Given the description of an element on the screen output the (x, y) to click on. 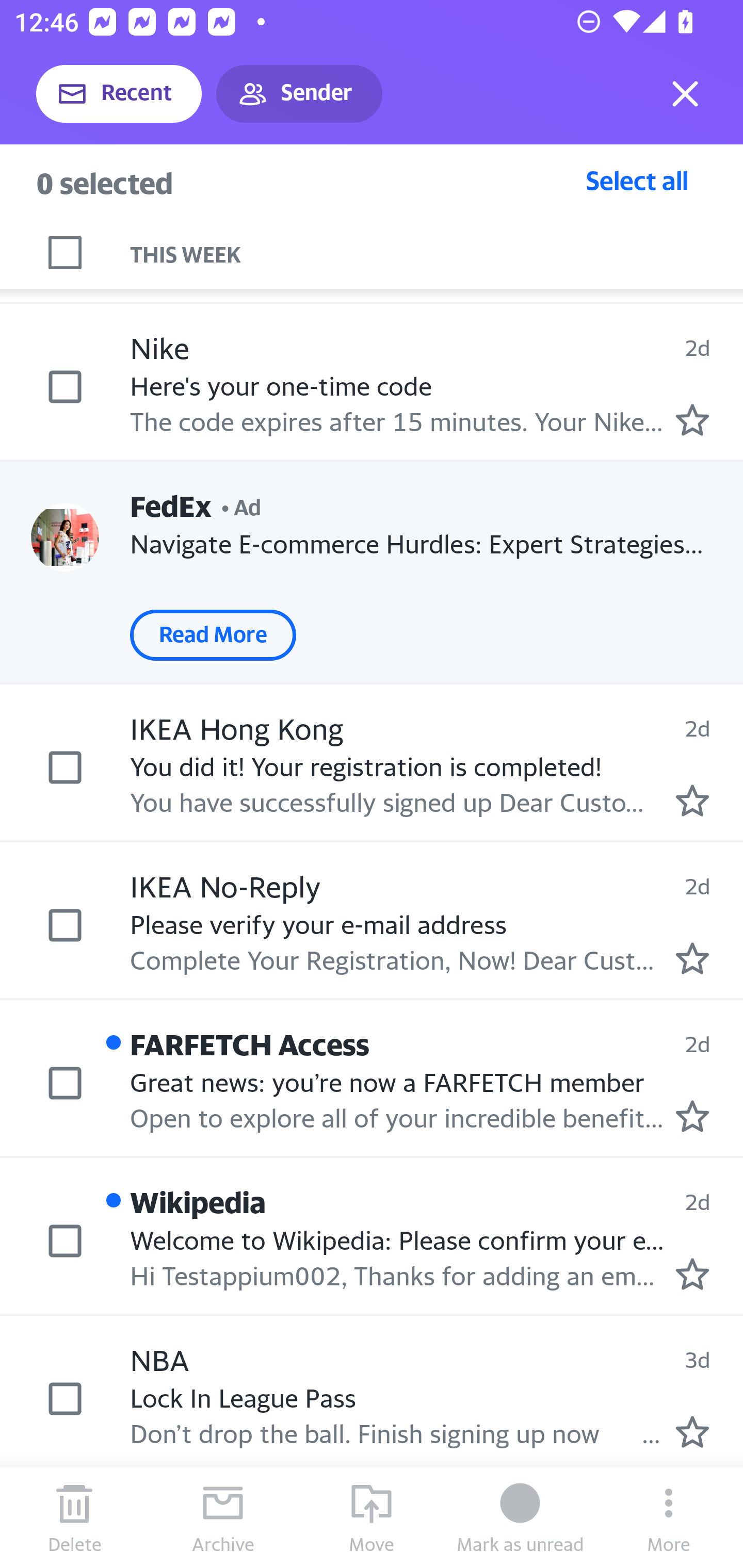
Sender (299, 93)
Exit selection mode (684, 93)
Select all (637, 180)
Mark as starred. (692, 419)
Mark as starred. (692, 800)
Mark as starred. (692, 958)
Mark as starred. (692, 1115)
Mark as starred. (692, 1273)
Mark as starred. (692, 1432)
Delete (74, 1517)
Archive (222, 1517)
Move (371, 1517)
Mark as unread (519, 1517)
More (668, 1517)
